Given the description of an element on the screen output the (x, y) to click on. 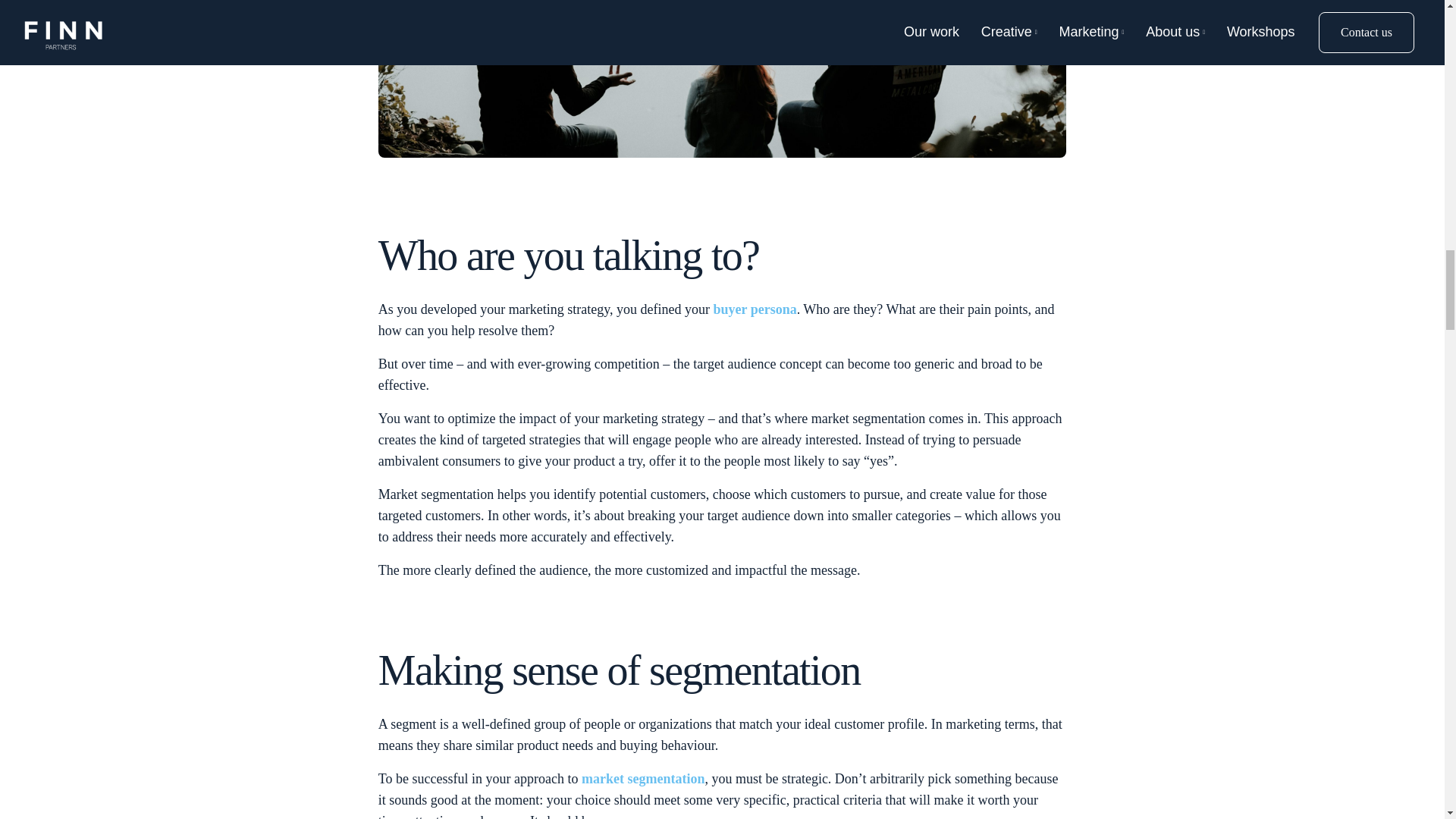
market segmentation (642, 778)
buyer persona (754, 309)
